Given the description of an element on the screen output the (x, y) to click on. 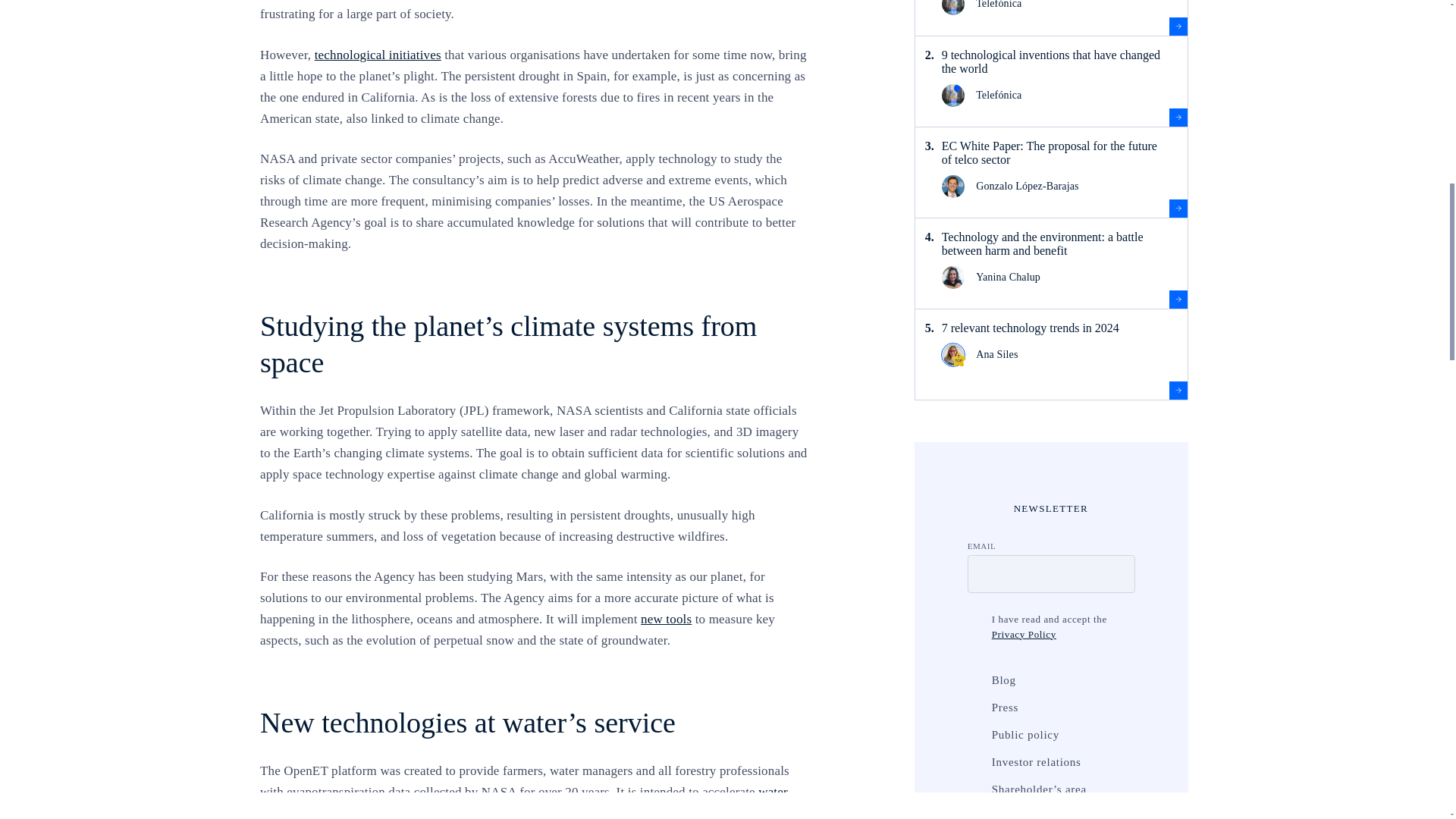
on (975, 619)
Shareholder's area (975, 789)
Press (975, 707)
Blog (975, 679)
ESG Investors (975, 814)
Investor relations (975, 761)
Public policy (975, 734)
